Given the description of an element on the screen output the (x, y) to click on. 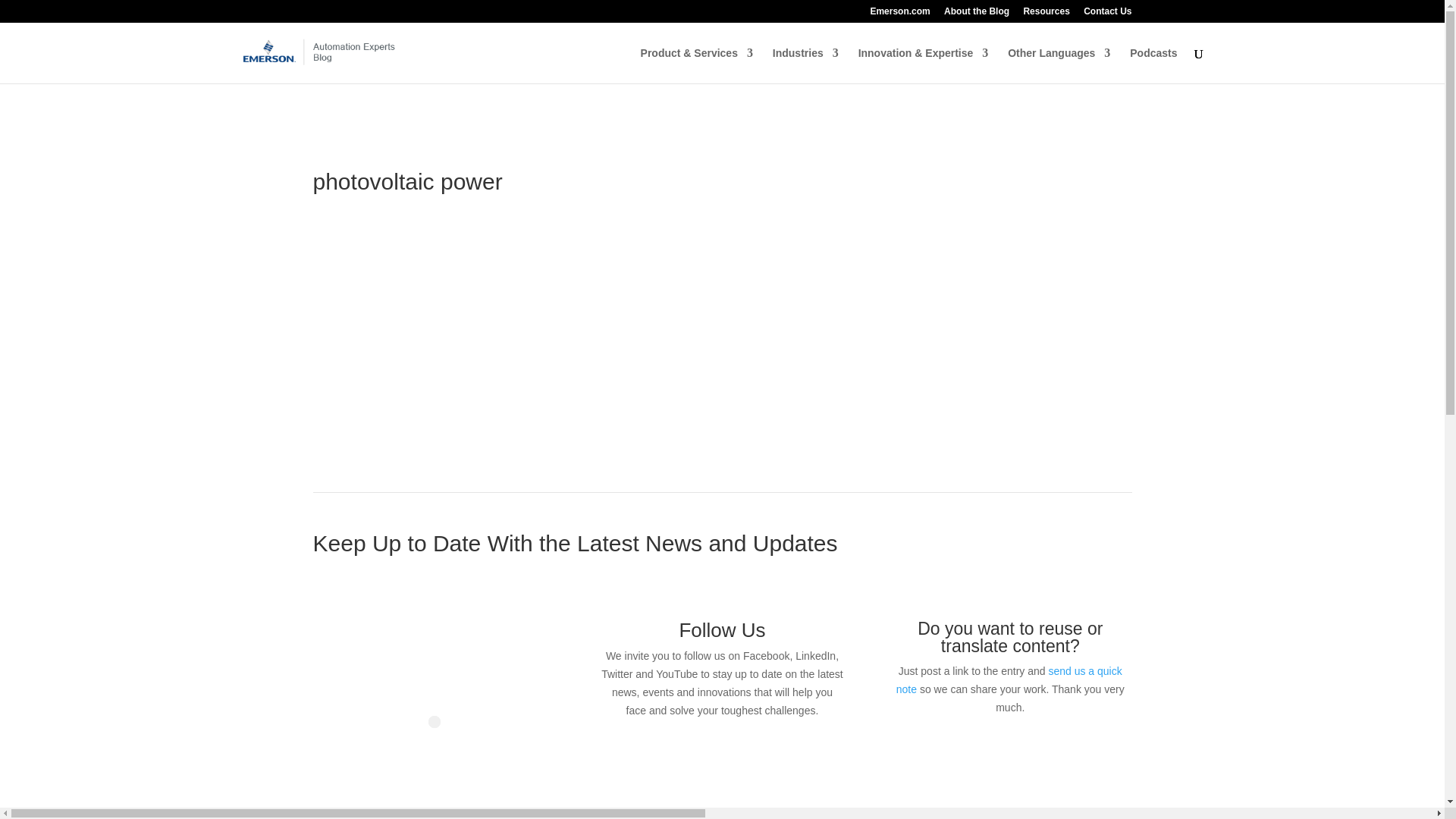
Emerson.com (899, 14)
Resources (1045, 14)
Follow on Facebook (675, 754)
Follow on LinkedIn (706, 754)
Contact Us (1107, 14)
Follow on X (737, 754)
Industries (805, 65)
About the Blog (976, 14)
Follow on Youtube (766, 754)
